Given the description of an element on the screen output the (x, y) to click on. 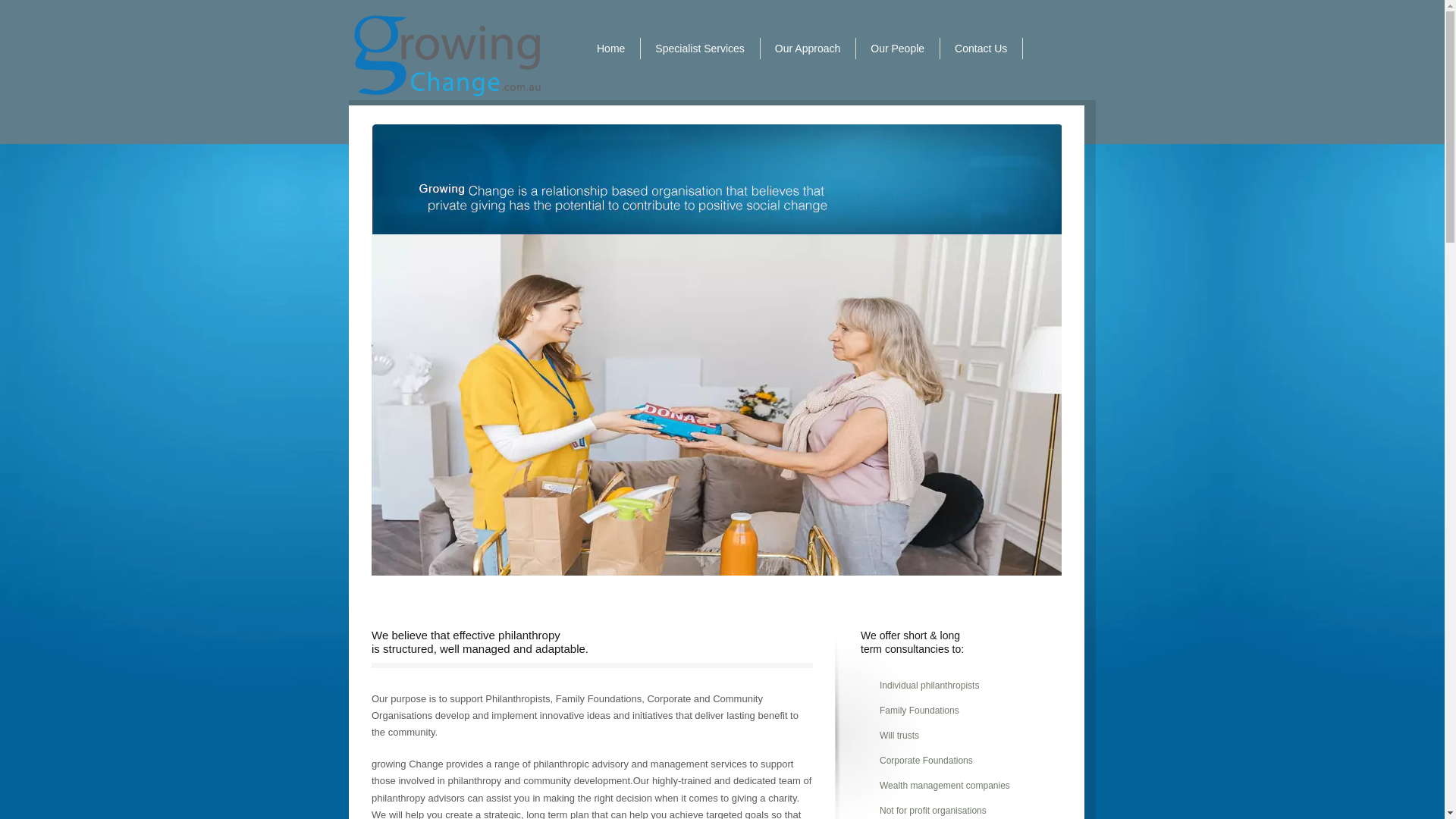
Contact Us Element type: text (980, 48)
Home Element type: text (610, 48)
Specialist Services Element type: text (700, 48)
Our Approach Element type: text (807, 48)
Our People Element type: text (897, 48)
